Given the description of an element on the screen output the (x, y) to click on. 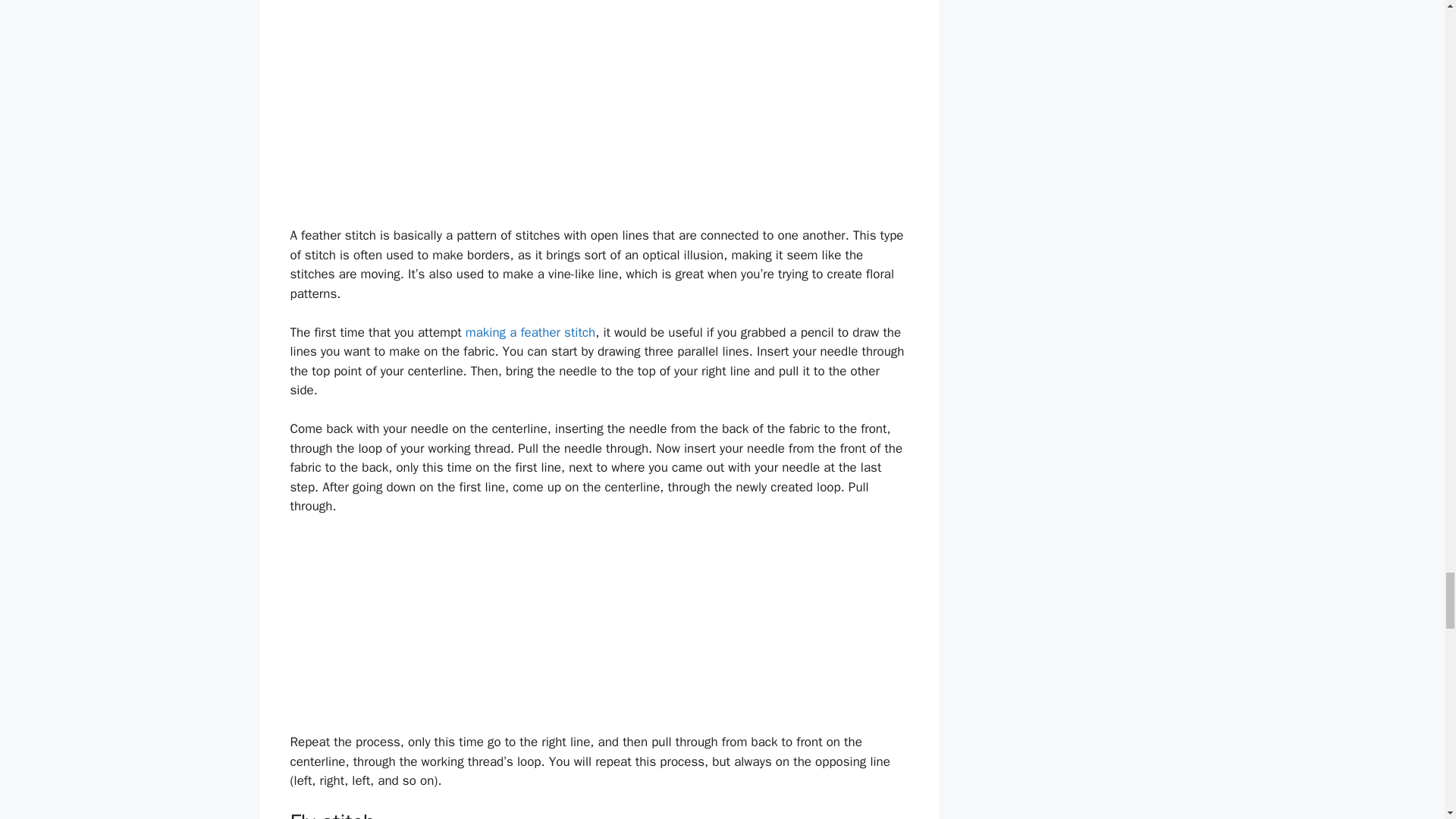
making a feather stitch (530, 332)
